Given the description of an element on the screen output the (x, y) to click on. 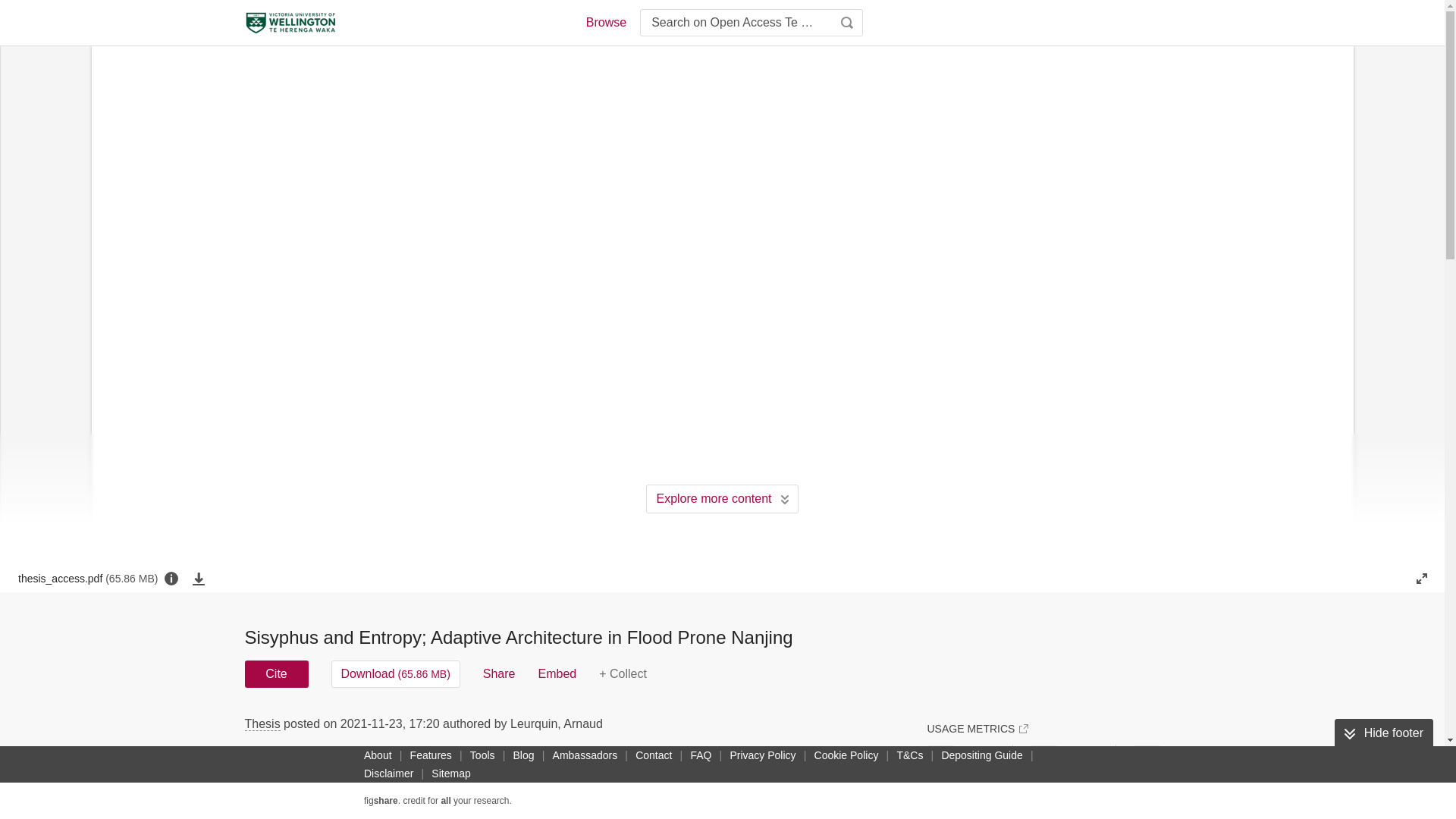
you need to log in first (622, 673)
Browse (605, 22)
USAGE METRICS (976, 728)
Share (499, 673)
Features (431, 755)
Explore more content (721, 498)
Embed (557, 673)
Cite (275, 673)
About (377, 755)
